Given the description of an element on the screen output the (x, y) to click on. 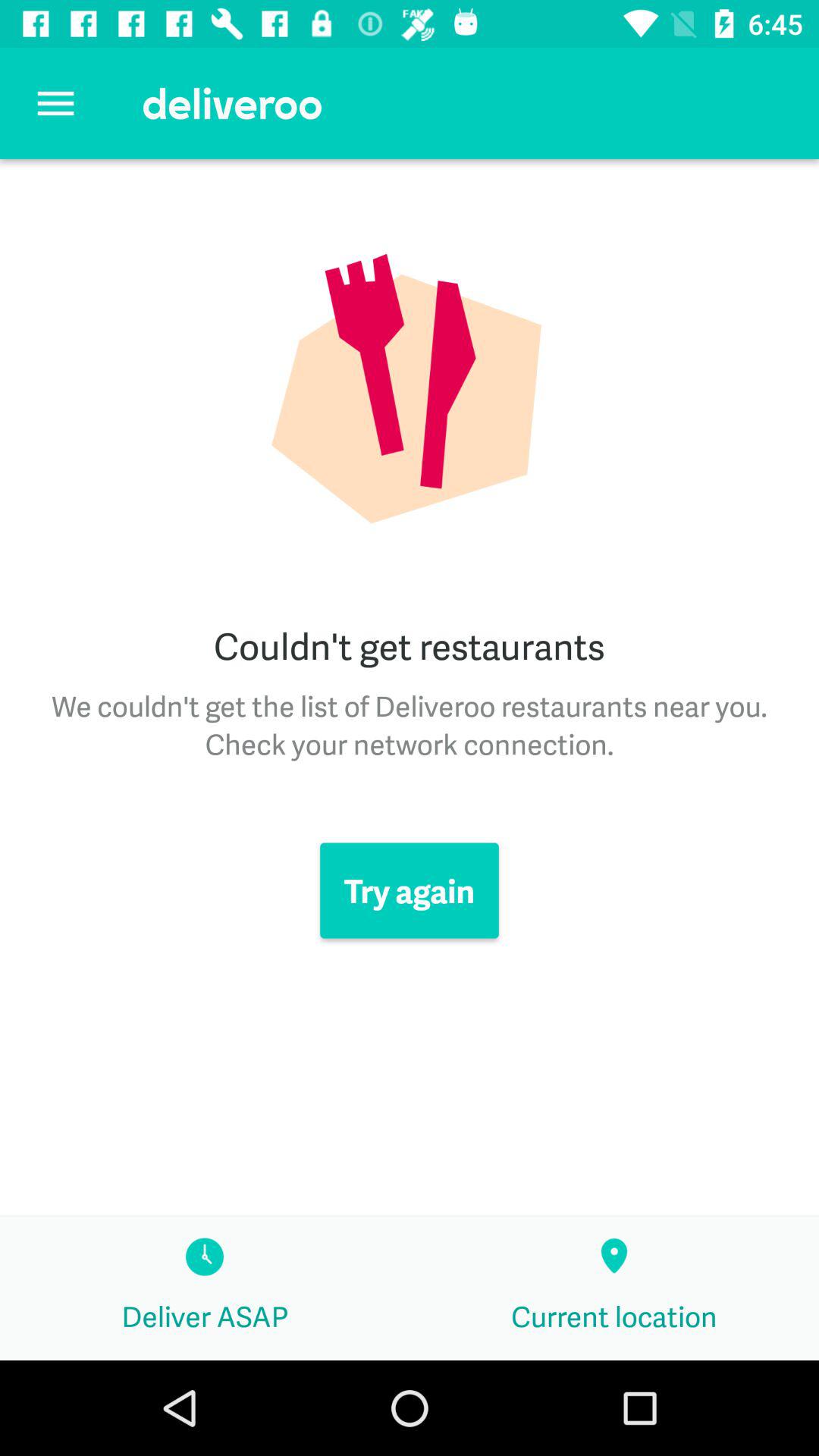
scroll to try again item (409, 890)
